Given the description of an element on the screen output the (x, y) to click on. 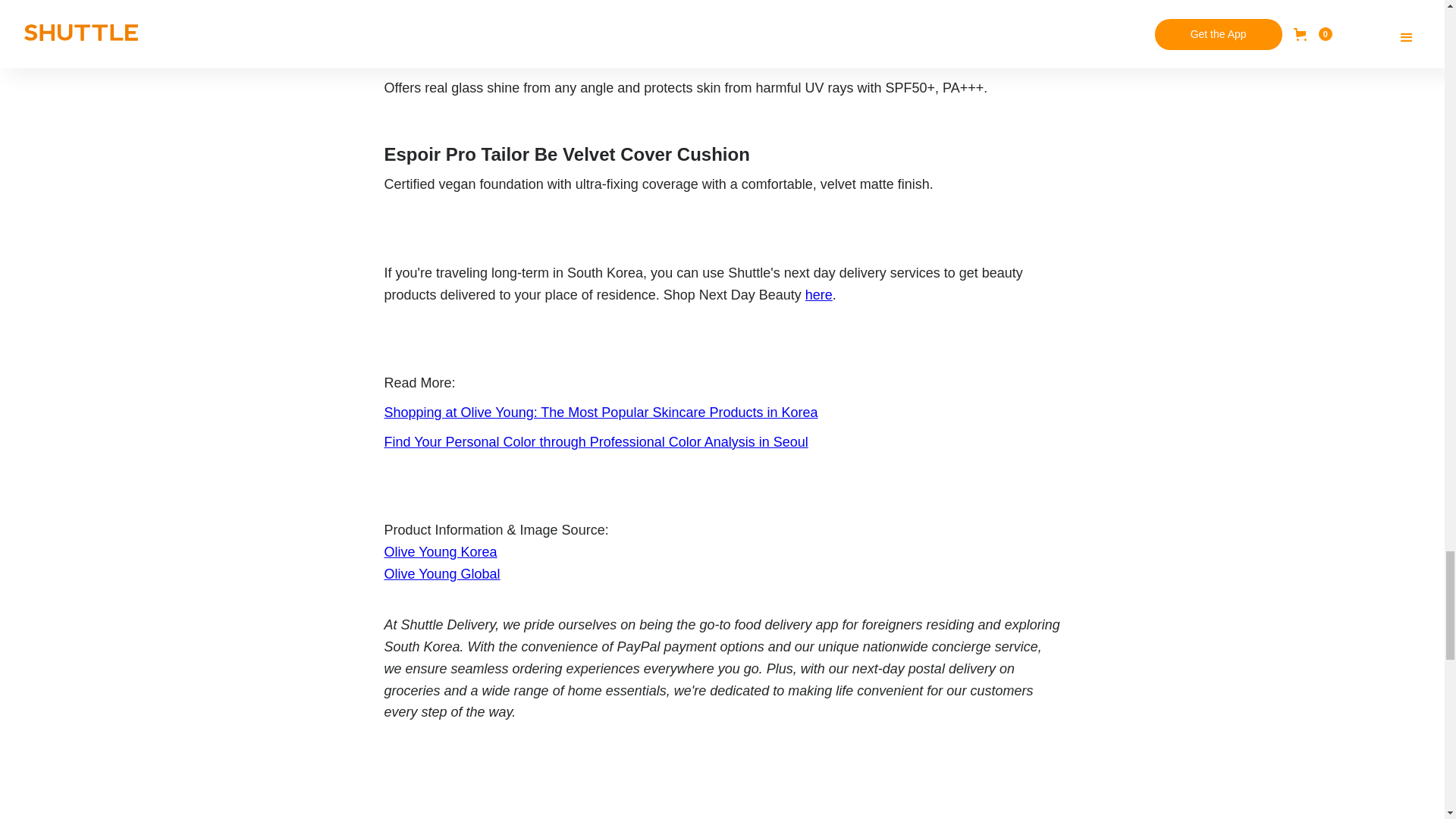
Olive Young Global (441, 573)
here (818, 294)
Olive Young Korea (440, 551)
